Given the description of an element on the screen output the (x, y) to click on. 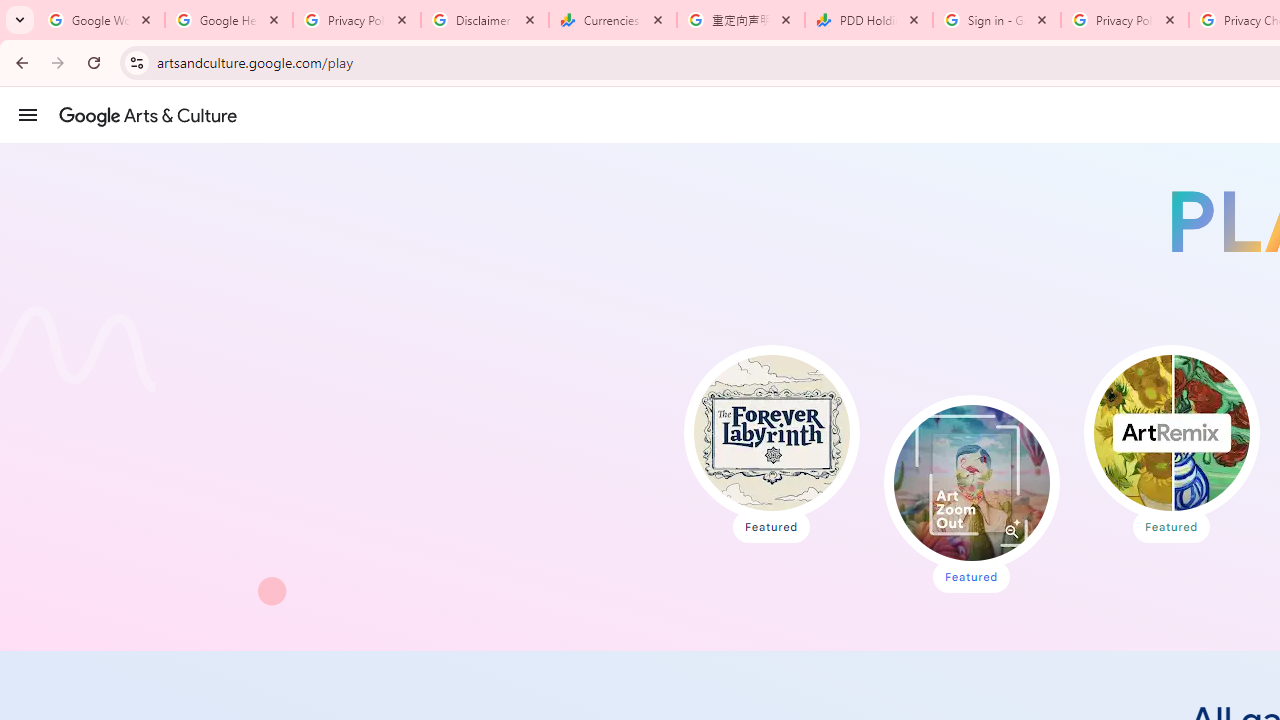
Menu (27, 114)
Currencies - Google Finance (613, 20)
